Given the description of an element on the screen output the (x, y) to click on. 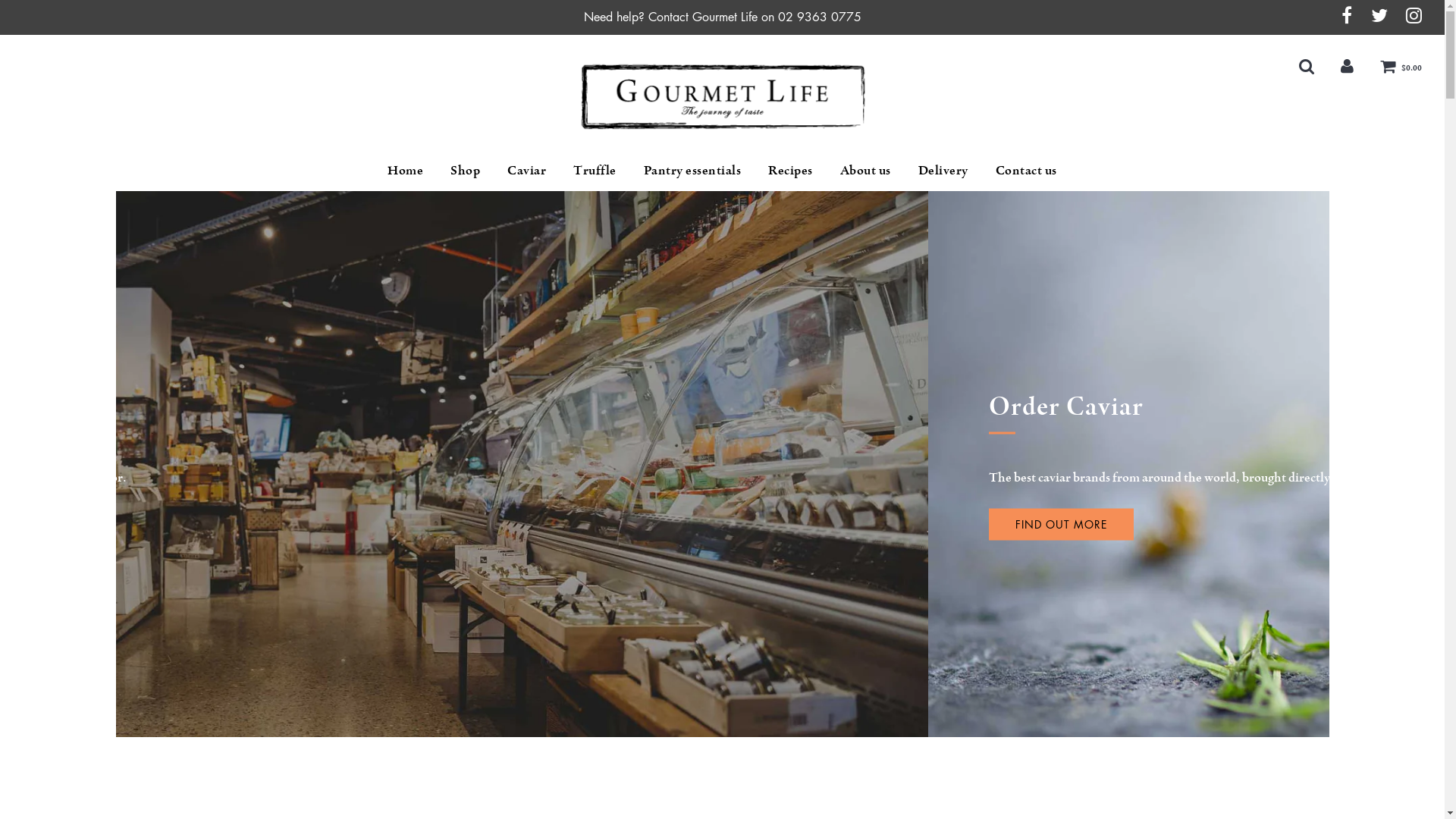
Home Element type: text (405, 169)
Shop Element type: text (465, 169)
Log in Element type: hover (1346, 66)
SHOP NOW Element type: text (235, 523)
Pantry essentials Element type: text (692, 169)
$0.00 Element type: text (1400, 67)
Contact us Element type: text (1020, 169)
Caviar Element type: text (526, 169)
Need help? Contact Gourmet Life on 02 9363 0775 Element type: text (722, 17)
Delivery Element type: text (942, 169)
Recipes Element type: text (790, 169)
About us Element type: text (865, 169)
Truffle Element type: text (594, 169)
